Given the description of an element on the screen output the (x, y) to click on. 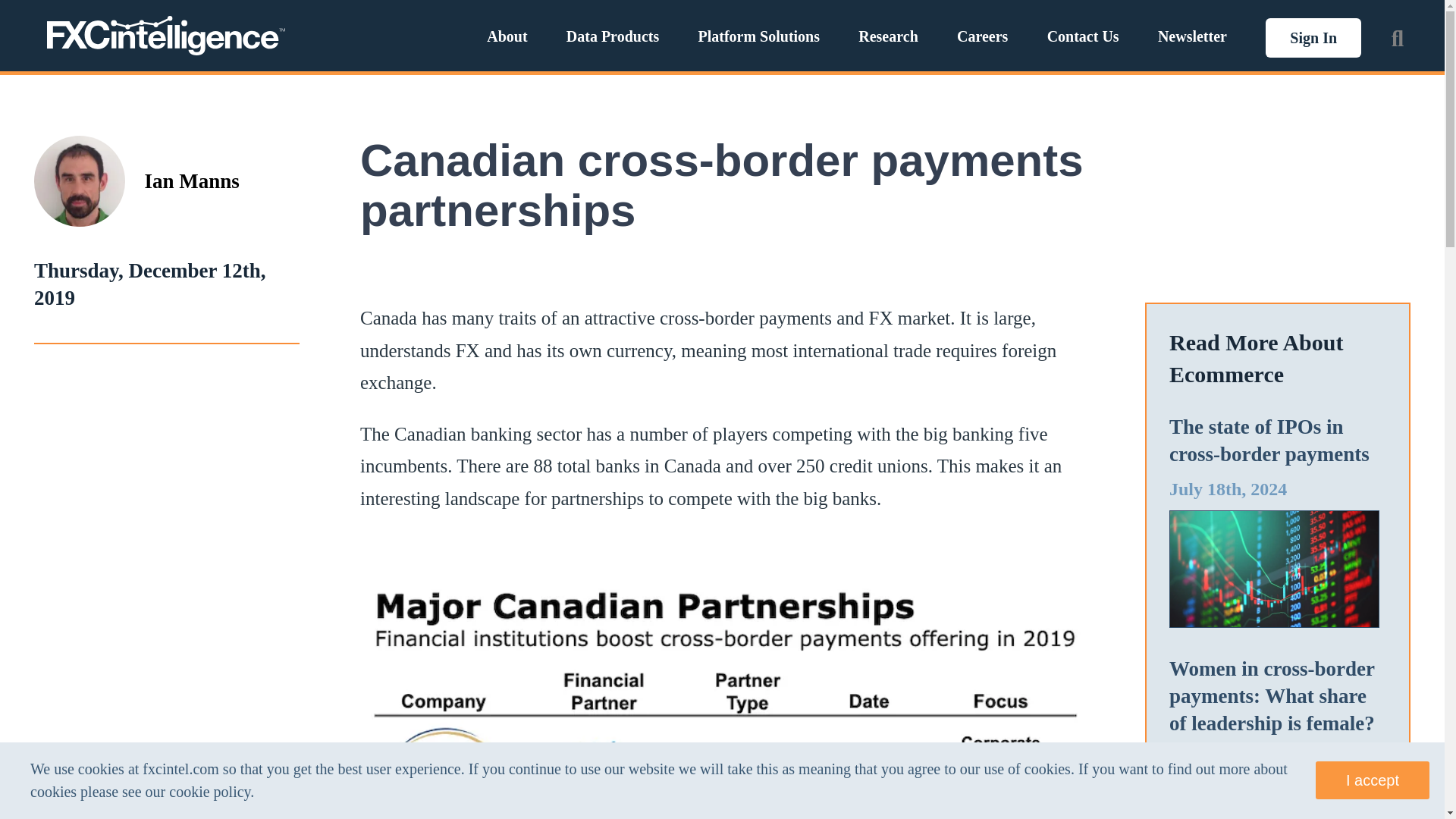
Sign In (1313, 37)
Research (888, 36)
Contact Us (1082, 36)
Sign In (1313, 37)
About (506, 36)
Platform Solutions (758, 36)
Ian Manns (191, 180)
Sign In (1313, 36)
Newsletter (1192, 36)
Careers (981, 36)
The state of IPOs in cross-border payments (1269, 440)
Data Products (612, 36)
